Given the description of an element on the screen output the (x, y) to click on. 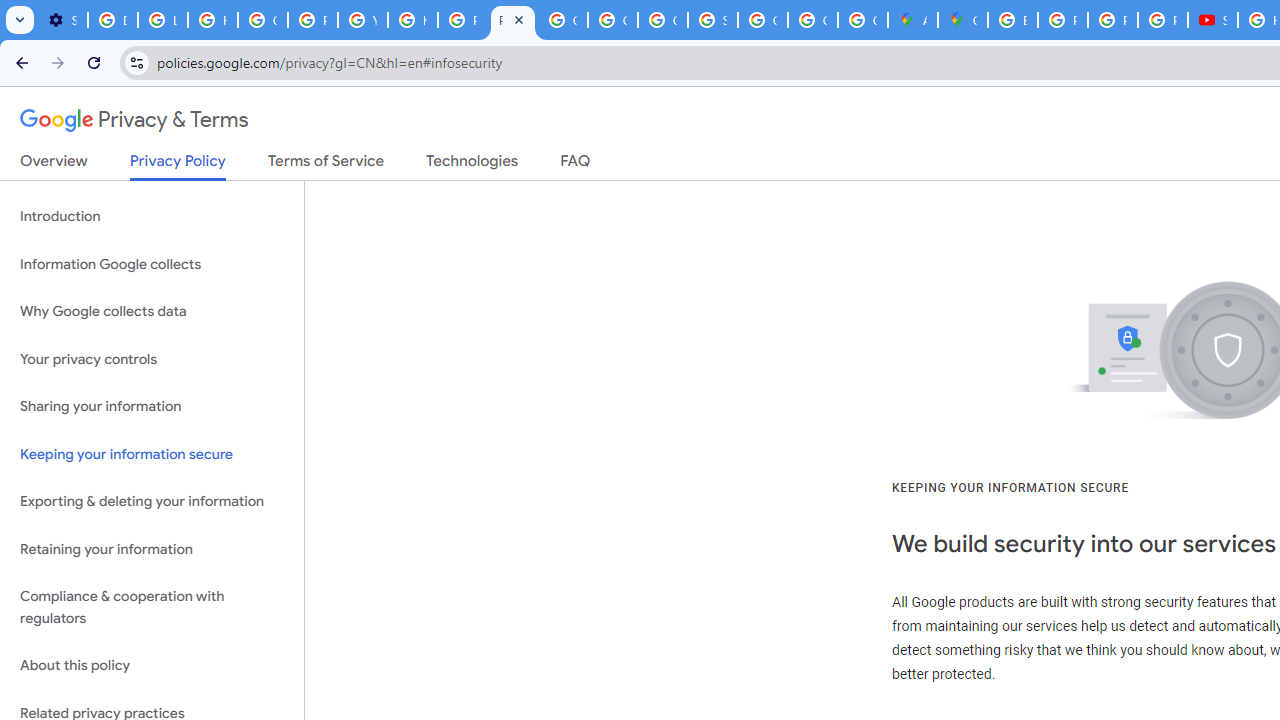
YouTube (362, 20)
Introduction (152, 216)
Settings - Customize profile (62, 20)
Privacy Help Center - Policies Help (312, 20)
Exporting & deleting your information (152, 502)
Information Google collects (152, 263)
